Given the description of an element on the screen output the (x, y) to click on. 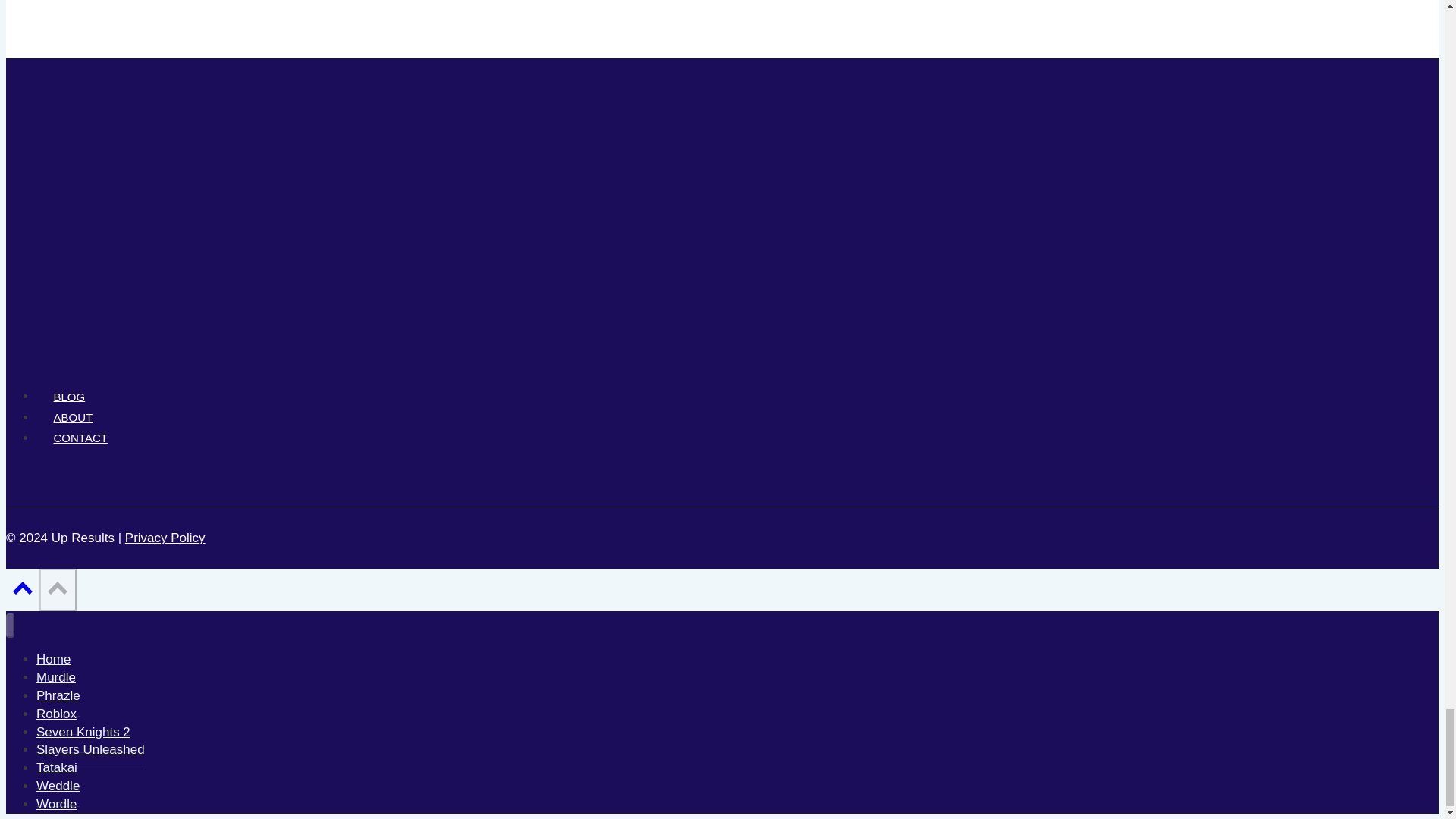
Scroll to top (22, 592)
Scroll to top (57, 586)
Scroll to top (22, 586)
